Given the description of an element on the screen output the (x, y) to click on. 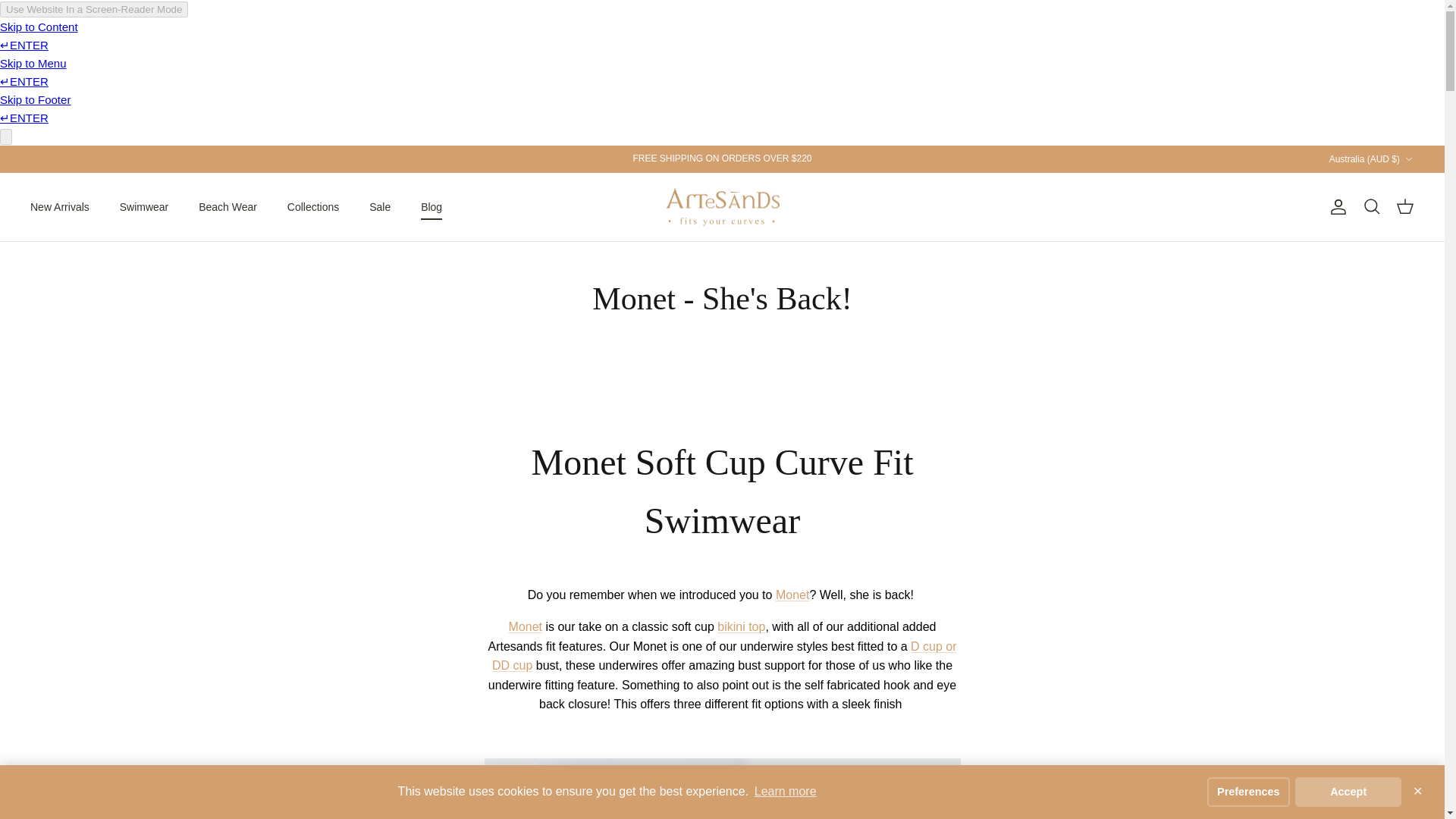
Search (1371, 207)
Down (1408, 158)
New Arrivals (59, 206)
Artesands Swim Australia (721, 207)
Artesands Curve D-DD Cup Plus Size Swimwear (724, 655)
Artesands Curve Plus Size Meet Monet Blog (792, 594)
Blog (431, 206)
Preferences (1248, 791)
Learn more (785, 791)
Sale (379, 206)
Artesands Curve Plus Size Monet Swimwear (524, 626)
Artesands Curve Plus Size Bikini Top (741, 626)
Collections (312, 206)
Accept (1347, 791)
Swimwear (144, 206)
